Given the description of an element on the screen output the (x, y) to click on. 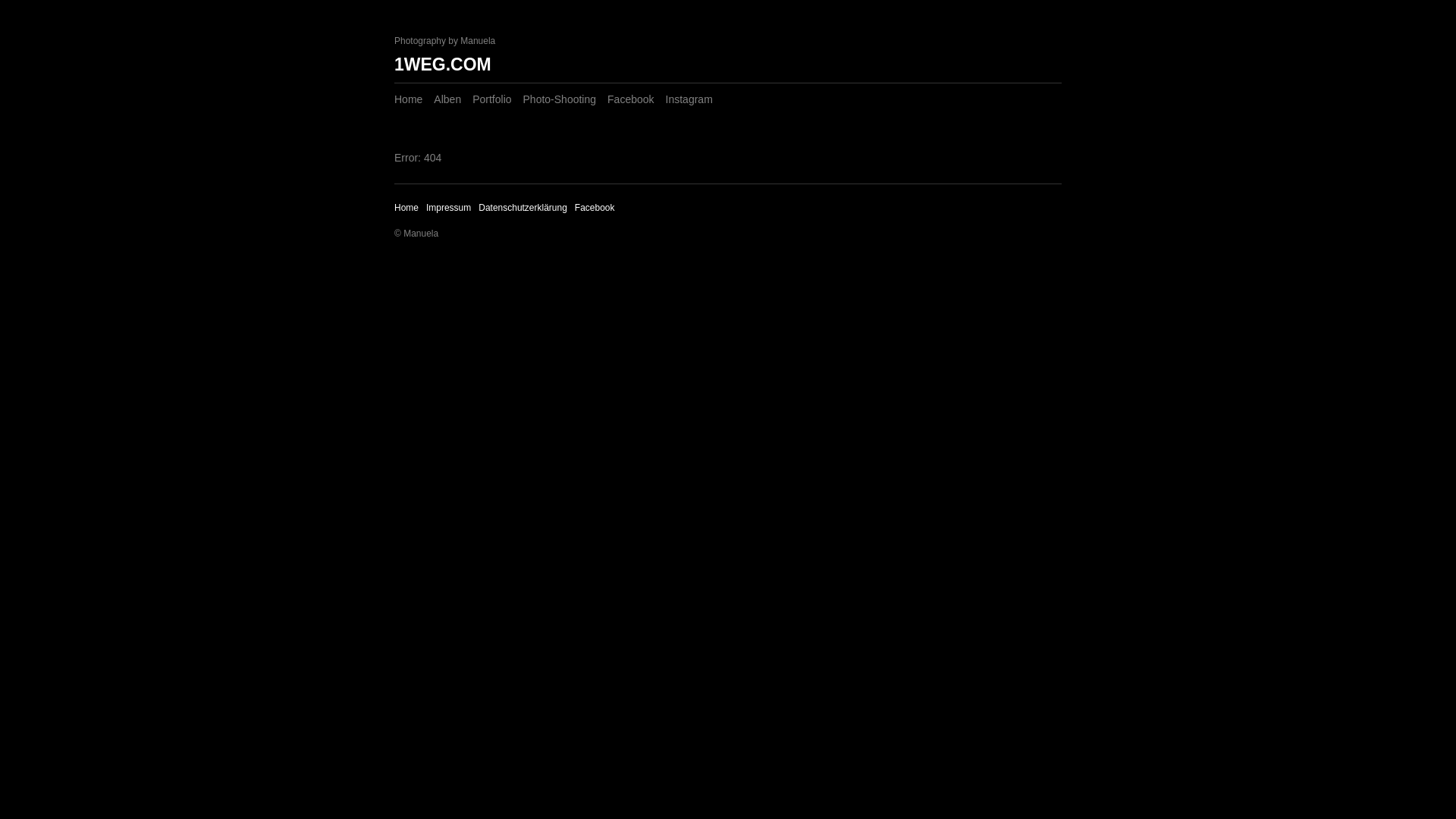
Facebook Element type: text (630, 99)
Home Element type: text (408, 99)
Facebook Element type: text (594, 207)
Alben Element type: text (447, 99)
1WEG.COM Element type: text (442, 64)
Portfolio Element type: text (491, 99)
Home Element type: text (406, 207)
Instagram Element type: text (688, 99)
Impressum Element type: text (448, 207)
Photo-Shooting Element type: text (559, 99)
